Given the description of an element on the screen output the (x, y) to click on. 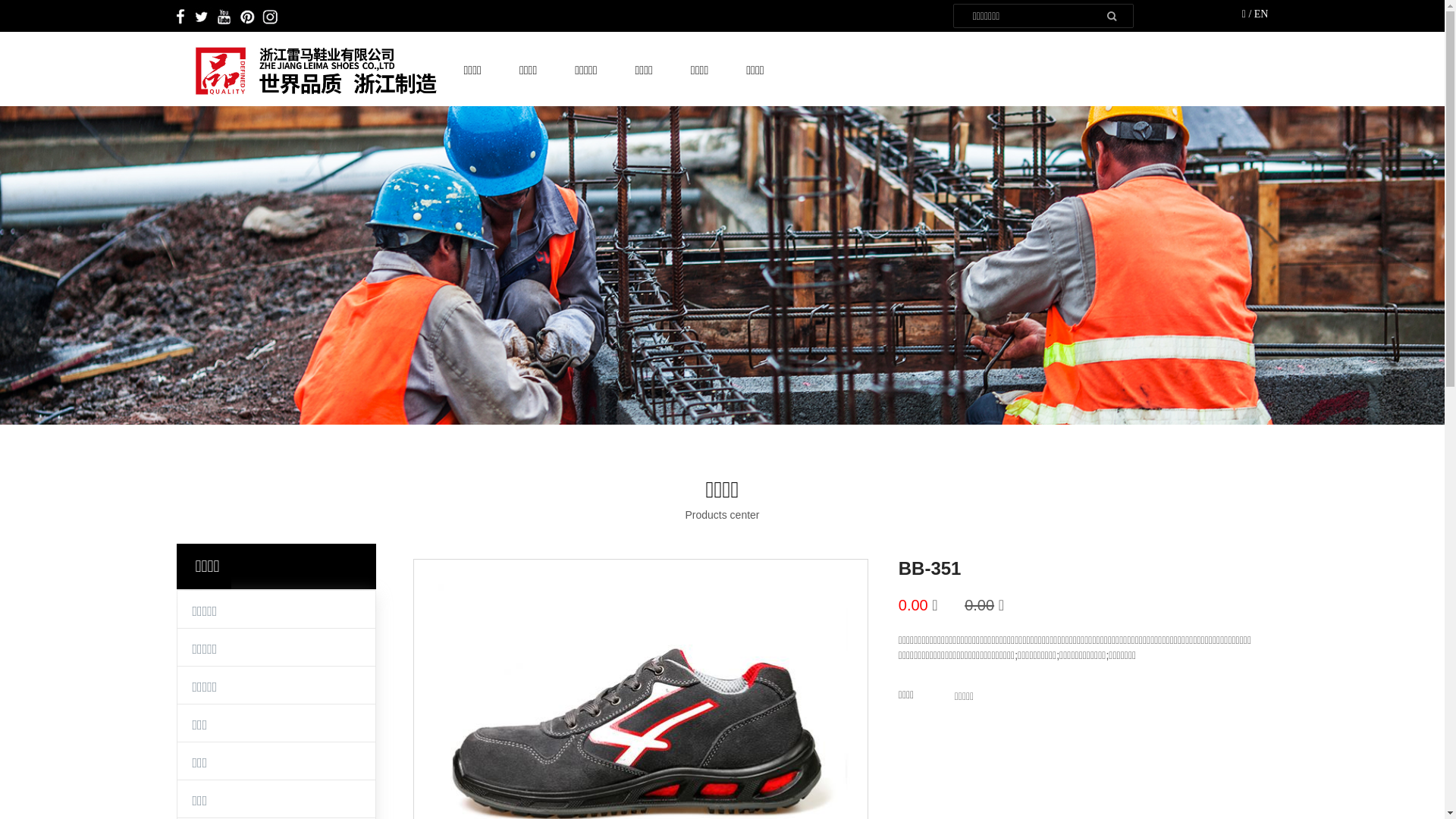
EN Element type: text (1261, 13)
leima Element type: hover (229, 16)
leima Element type: hover (320, 70)
